Given the description of an element on the screen output the (x, y) to click on. 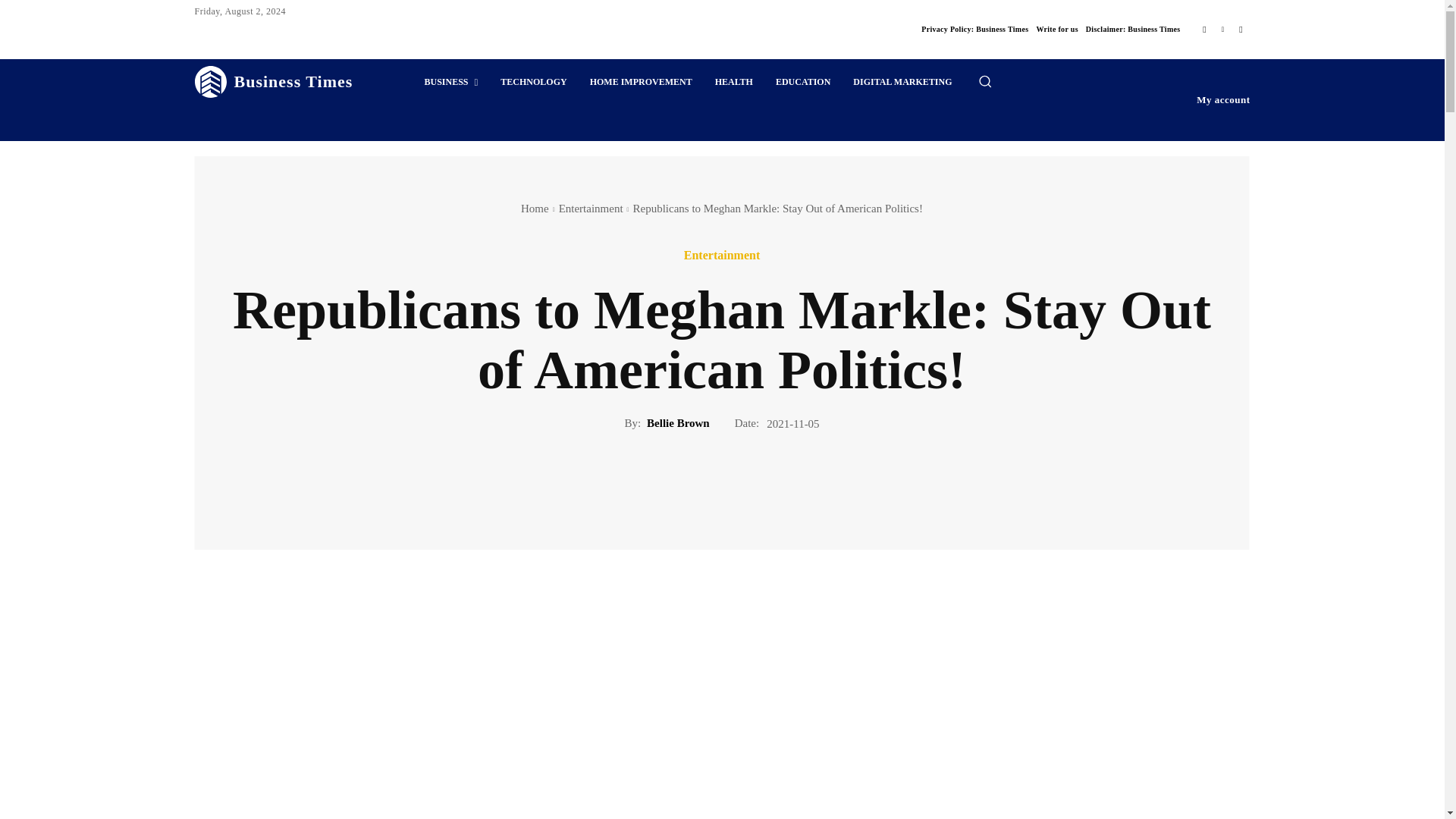
Business Times (272, 81)
RSS (1240, 29)
Home (534, 208)
HEALTH (733, 81)
Disclaimer: Business Times (1133, 29)
HOME IMPROVEMENT (640, 81)
BUSINESS (450, 81)
DIGITAL MARKETING (901, 81)
Entertainment (591, 208)
Write for us (1056, 29)
TECHNOLOGY (533, 81)
View all posts in Entertainment (591, 208)
Privacy Policy: Business Times (974, 29)
Linkedin (1221, 29)
Facebook (1203, 29)
